Given the description of an element on the screen output the (x, y) to click on. 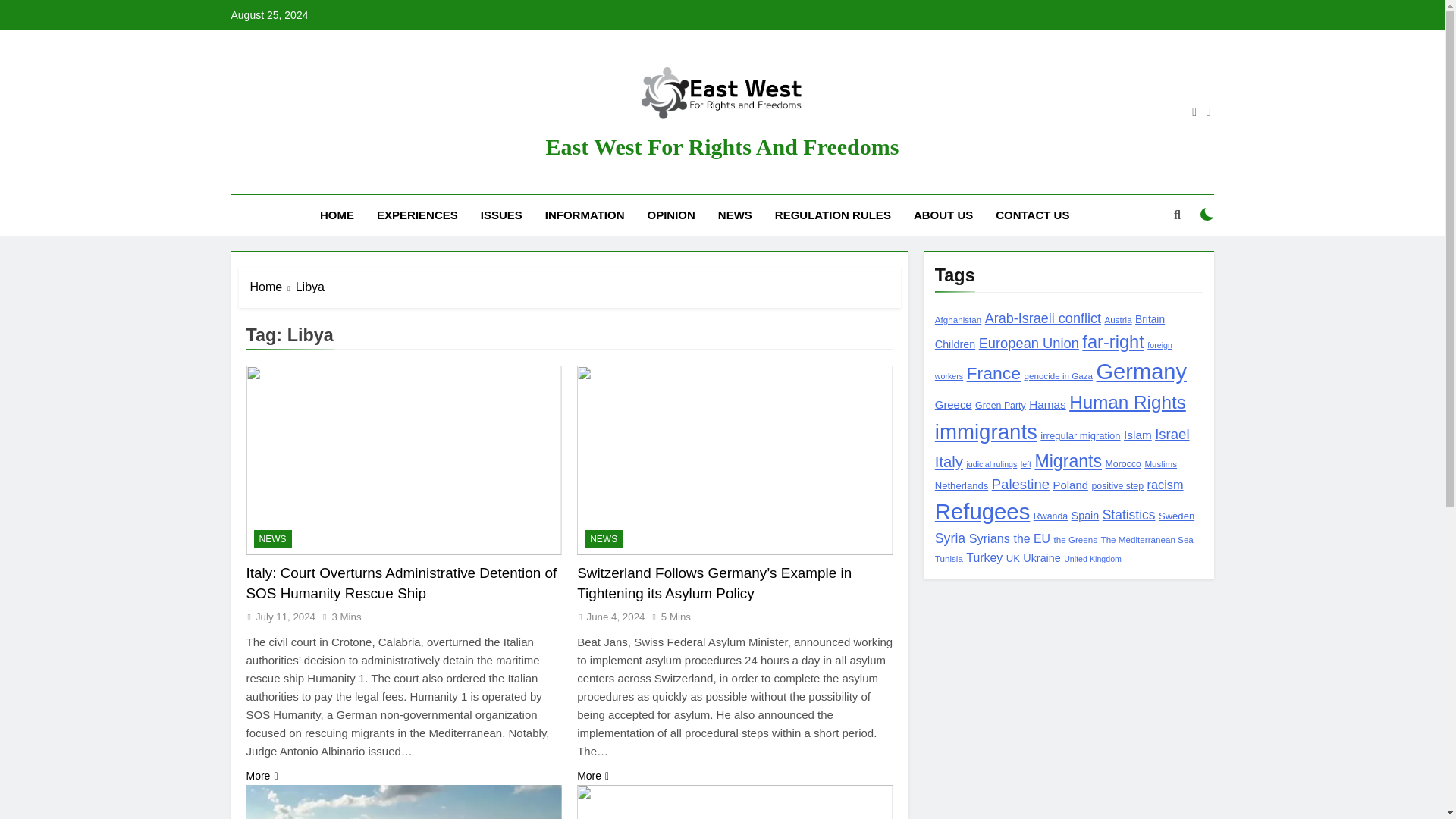
NEWS (604, 538)
July 11, 2024 (285, 616)
OPINION (670, 214)
Arab-Israeli conflict (1042, 318)
Home (272, 287)
ISSUES (501, 214)
June 4, 2024 (615, 616)
EXPERIENCES (416, 214)
HOME (336, 214)
